Given the description of an element on the screen output the (x, y) to click on. 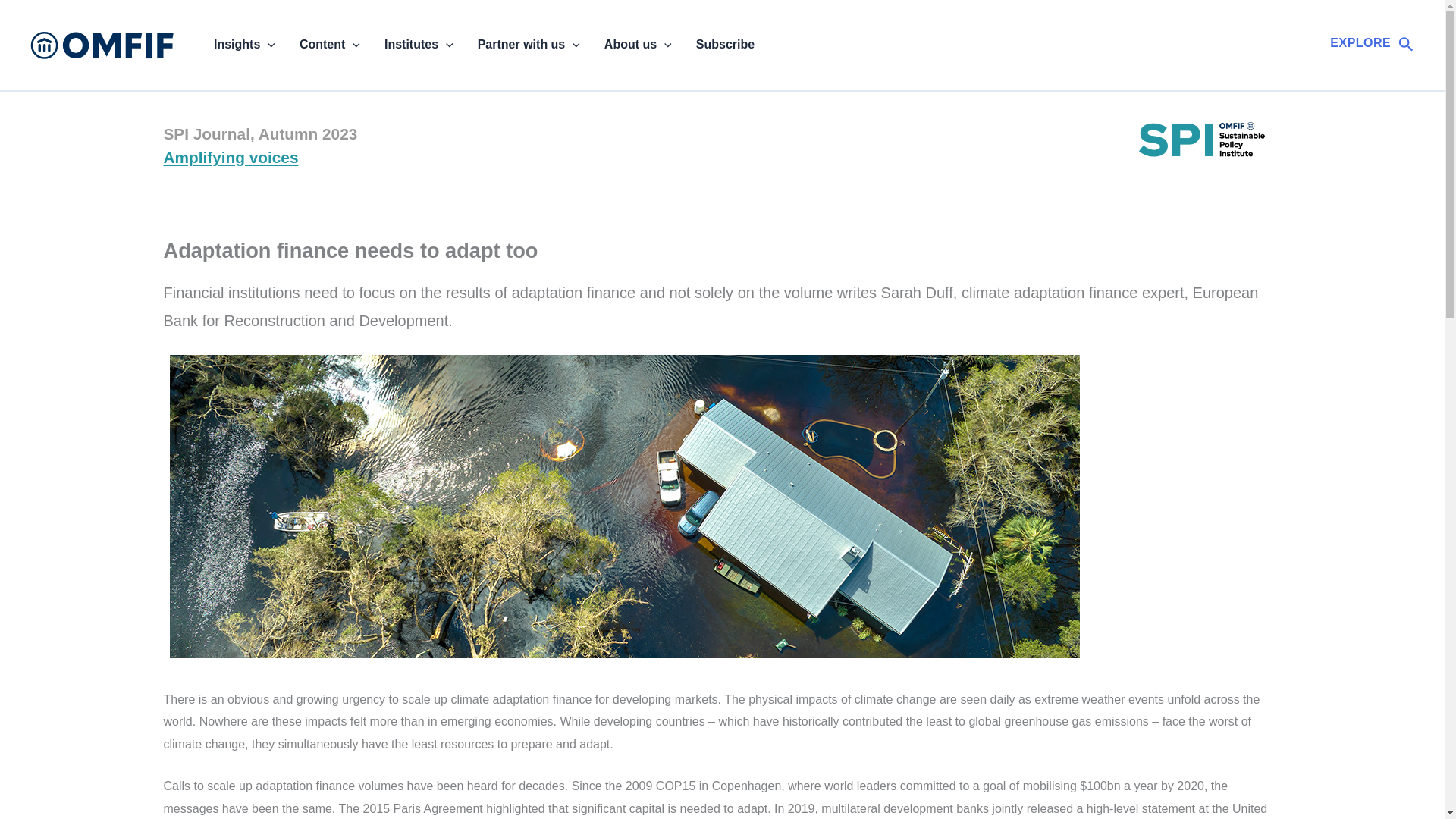
Content (329, 44)
About us (638, 44)
Institutes (418, 44)
Partner with us (528, 44)
Insights (244, 44)
